Given the description of an element on the screen output the (x, y) to click on. 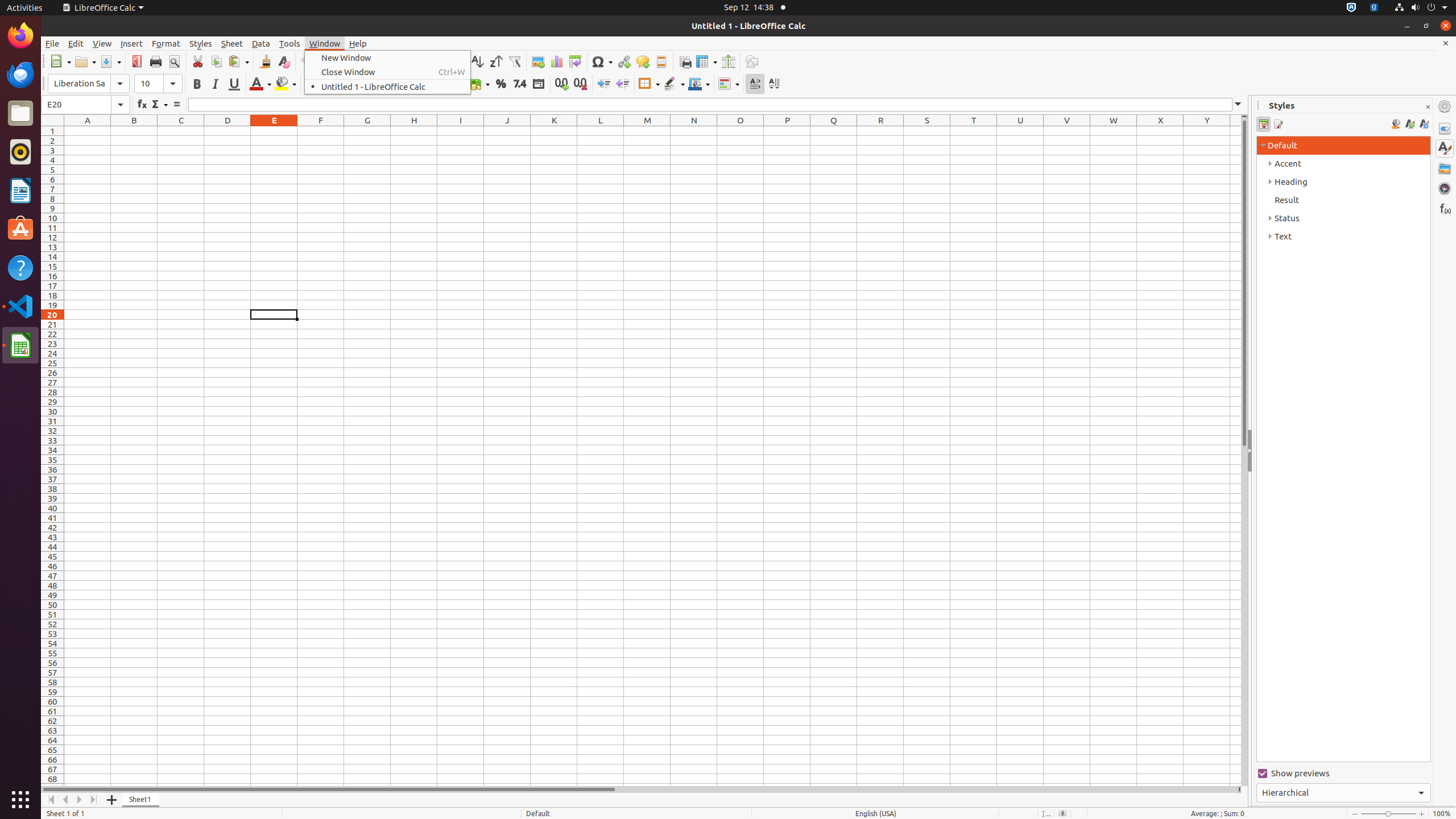
Clear Element type: push-button (283, 61)
